Given the description of an element on the screen output the (x, y) to click on. 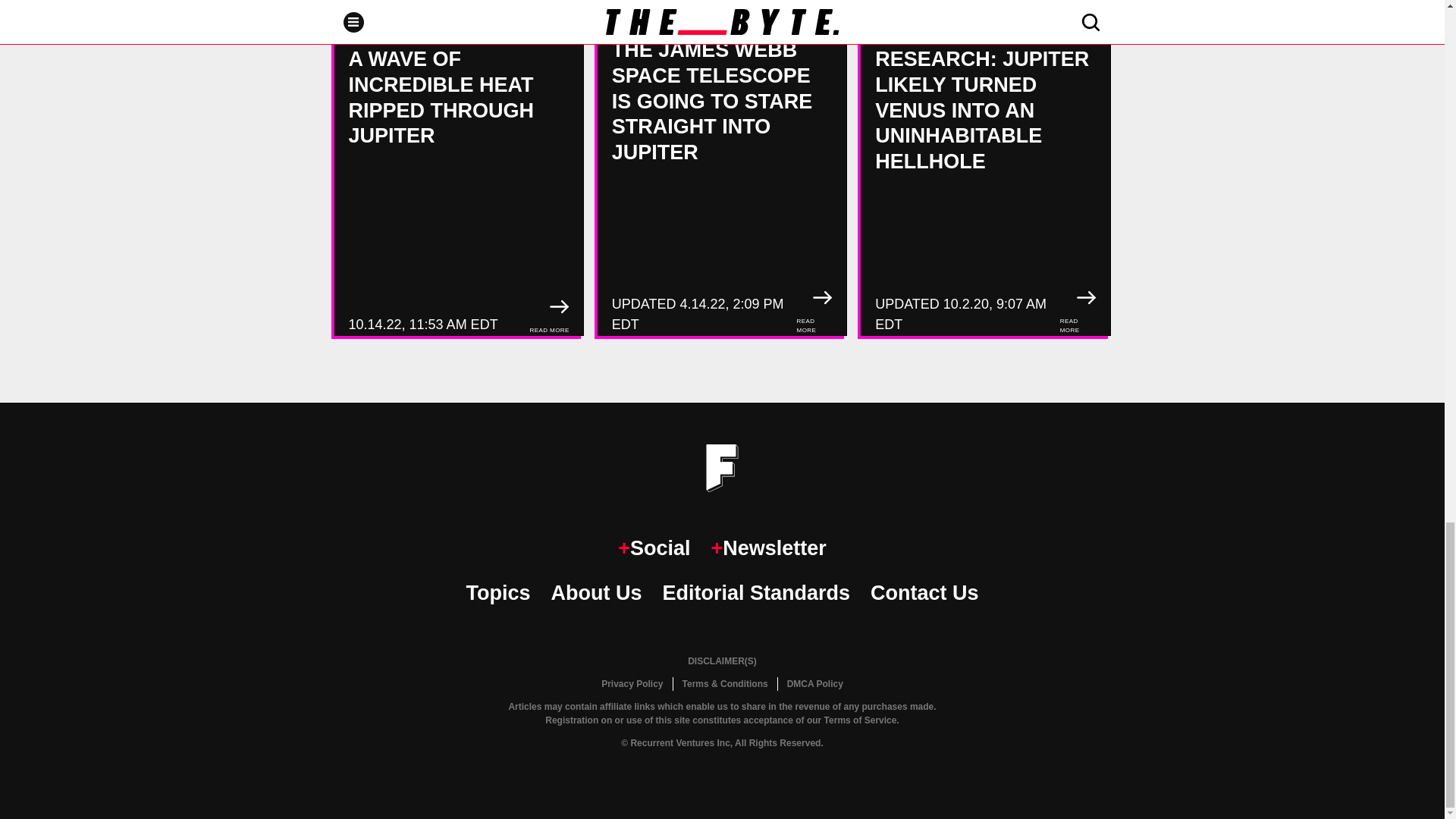
Privacy Policy (631, 684)
DMCA Policy (814, 684)
Contact Us (924, 593)
Editorial Standards (756, 593)
About Us (596, 593)
Topics (497, 593)
